Given the description of an element on the screen output the (x, y) to click on. 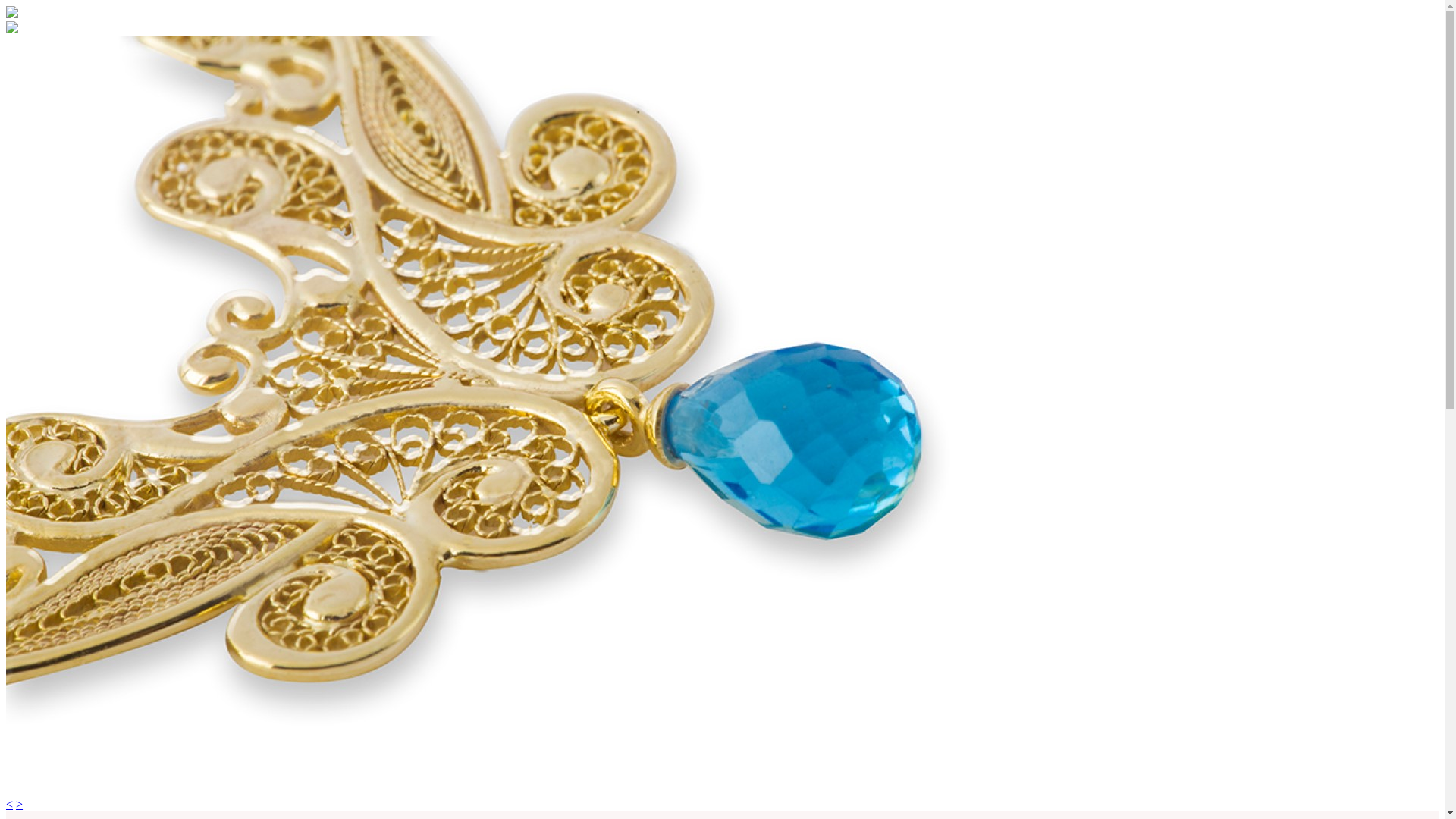
> Element type: text (18, 803)
< Element type: text (9, 803)
